Given the description of an element on the screen output the (x, y) to click on. 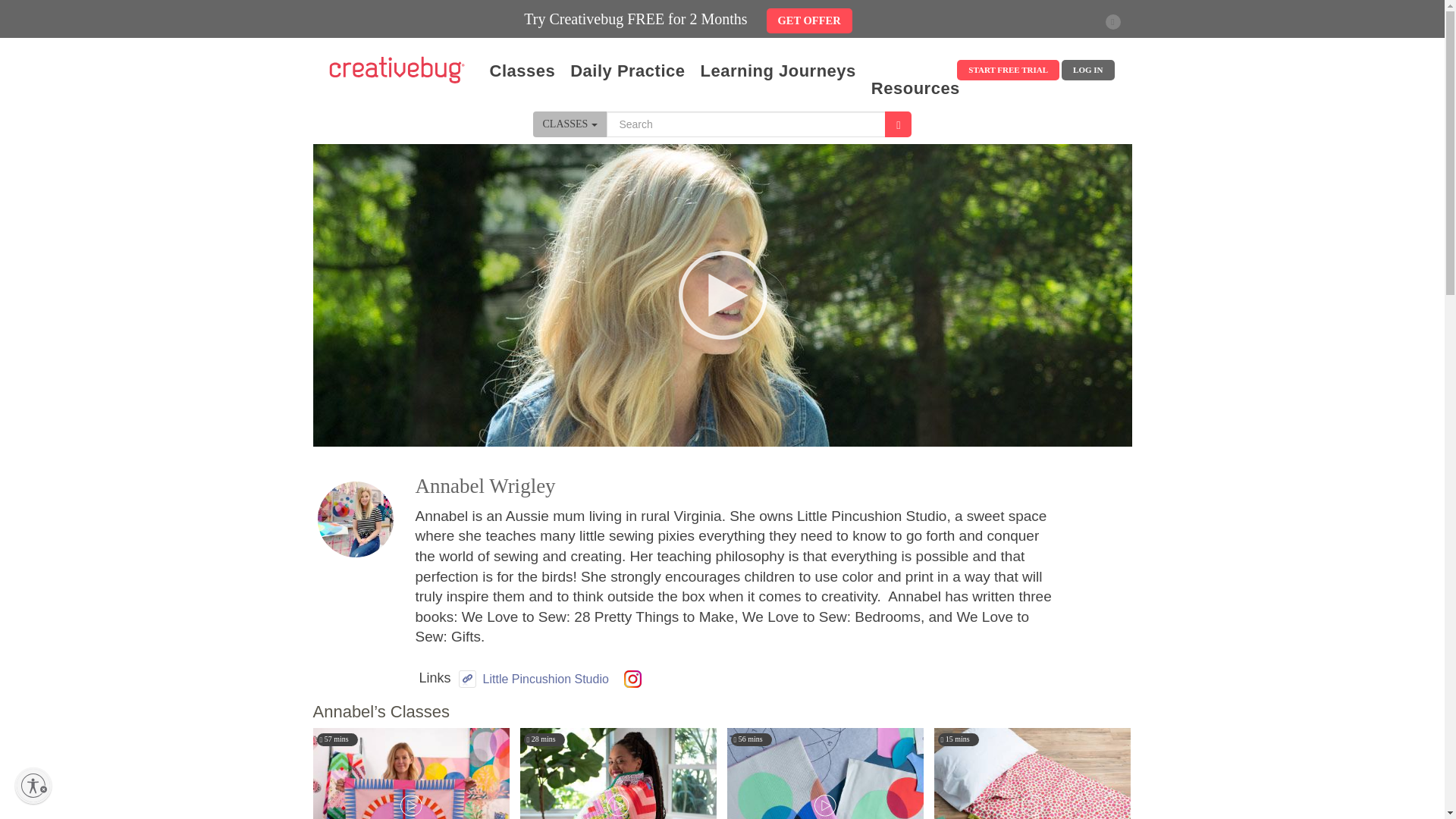
Classes (522, 70)
LOG IN (1087, 69)
Start Your Free Trial (1008, 69)
Enable accessibility (32, 785)
GET OFFER (809, 18)
START FREE TRIAL (1008, 69)
Log In (1087, 69)
